Given the description of an element on the screen output the (x, y) to click on. 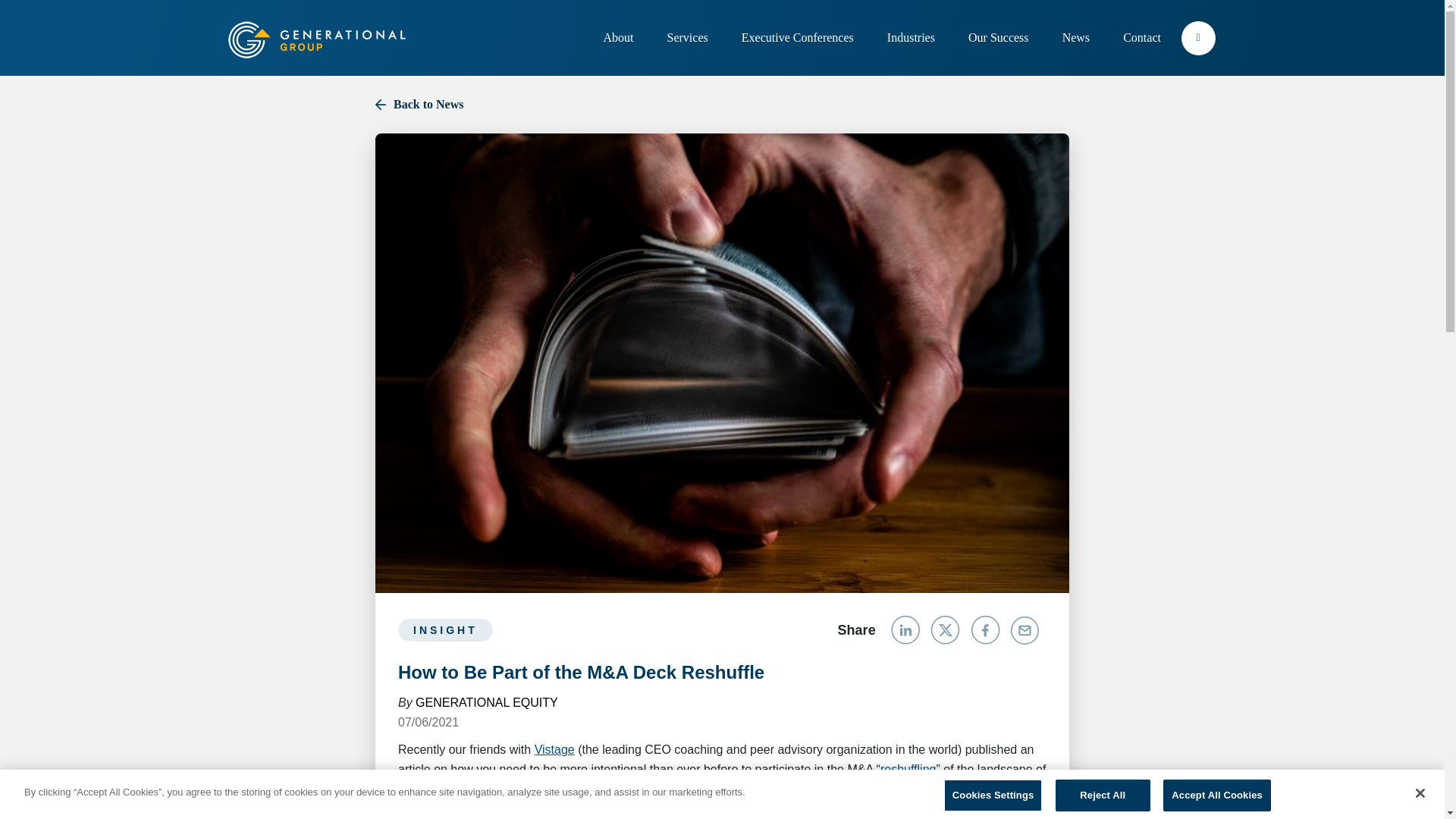
About (619, 37)
Share on Facebook (987, 629)
Share via Email (1024, 629)
Industries (912, 37)
Share on LinkedIn (907, 629)
Our Success (999, 37)
Services (689, 37)
Share on Twitter (946, 629)
Executive Conferences (799, 37)
Search (1198, 37)
